Given the description of an element on the screen output the (x, y) to click on. 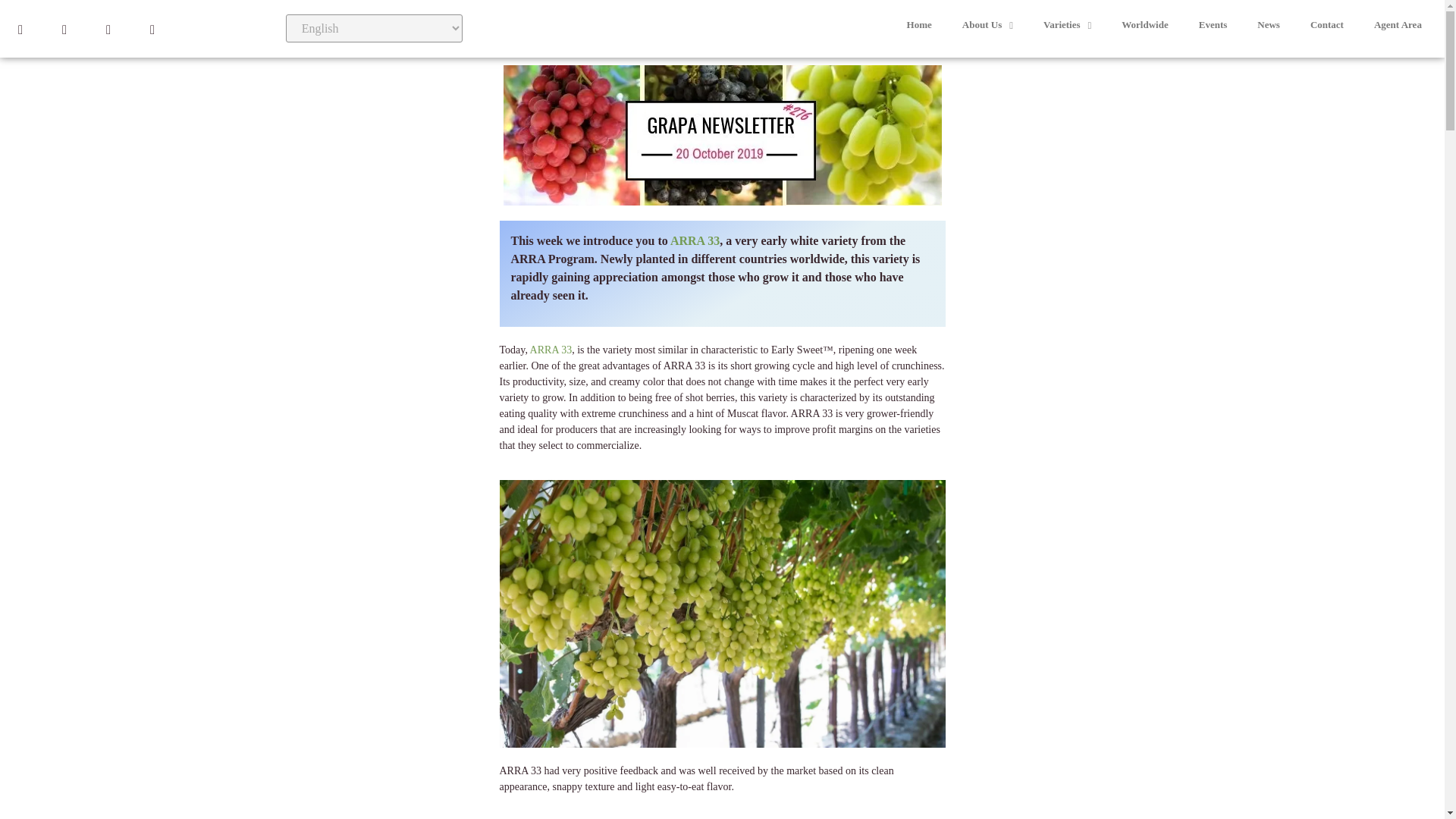
About Us (987, 24)
Contact (1326, 24)
Events (1213, 24)
Agent Area (1397, 24)
Varieties (1066, 24)
News (1268, 24)
Home (919, 24)
Worldwide (1144, 24)
